Given the description of an element on the screen output the (x, y) to click on. 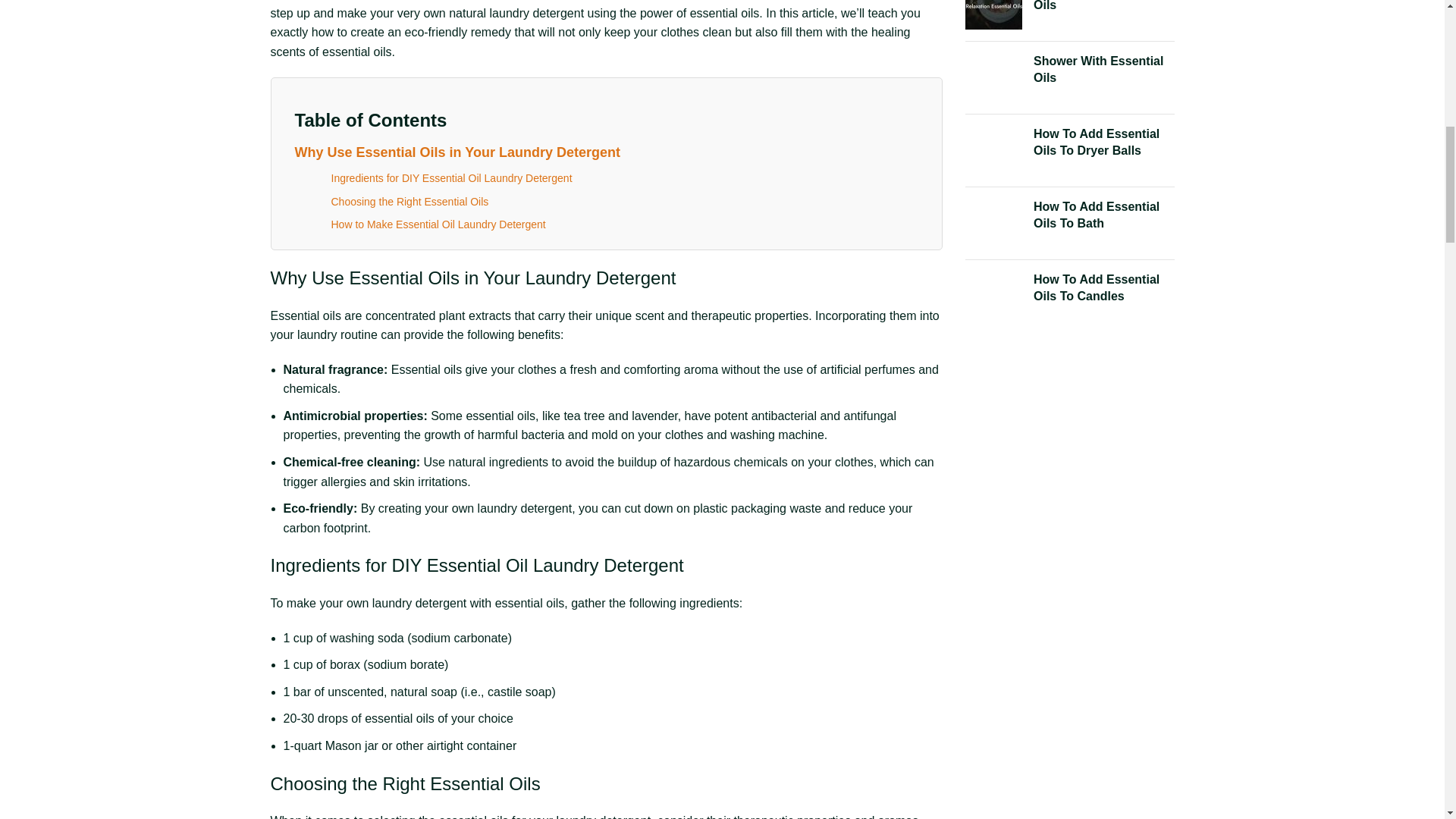
Ingredients for DIY Essential Oil Laundry Detergent (451, 177)
Choosing the Right Essential Oils (408, 201)
How to Make Essential Oil Laundry Detergent (437, 224)
Why Use Essential Oils in Your Laundry Detergent (457, 151)
